Given the description of an element on the screen output the (x, y) to click on. 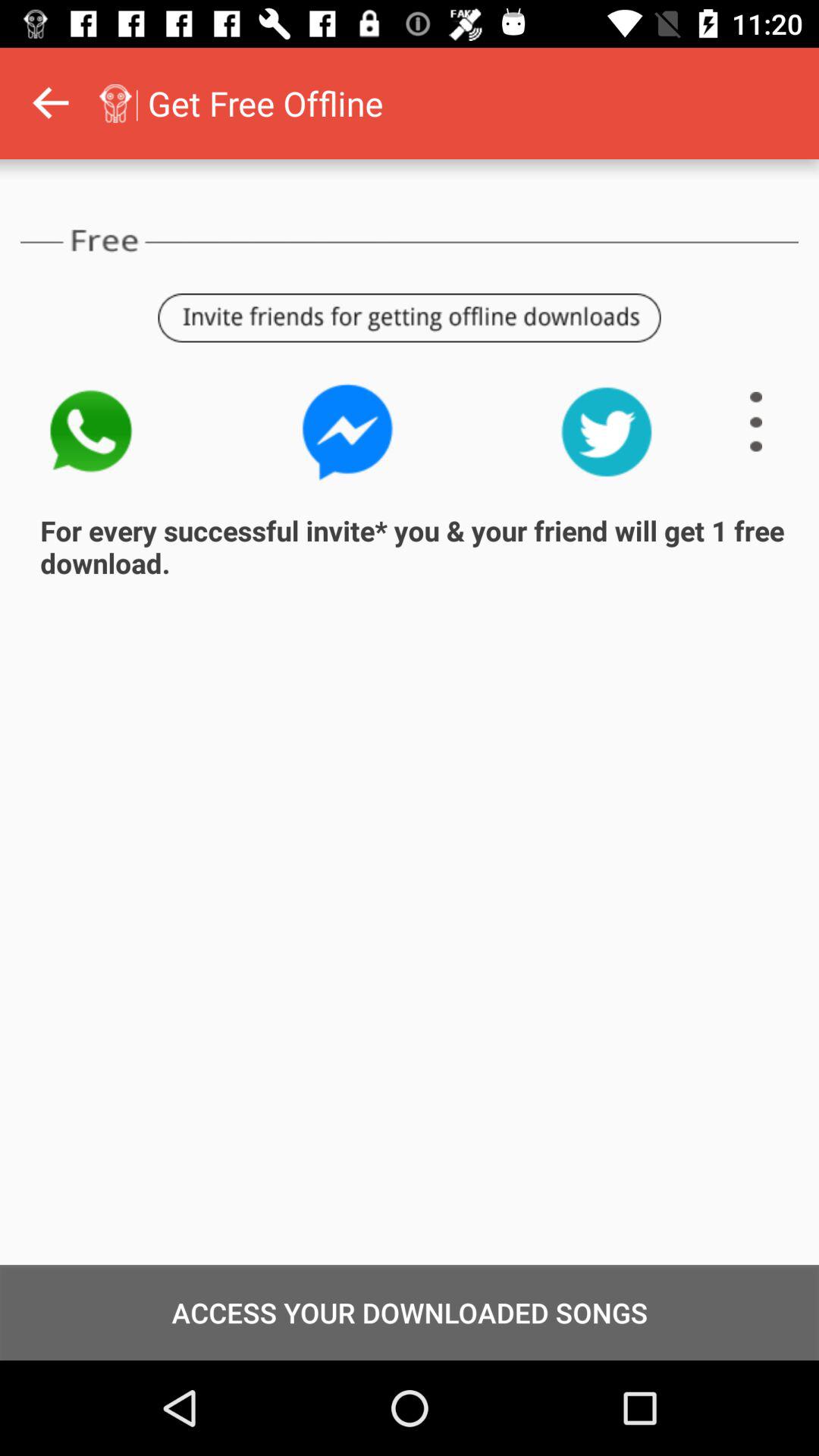
call someone (89, 431)
